Given the description of an element on the screen output the (x, y) to click on. 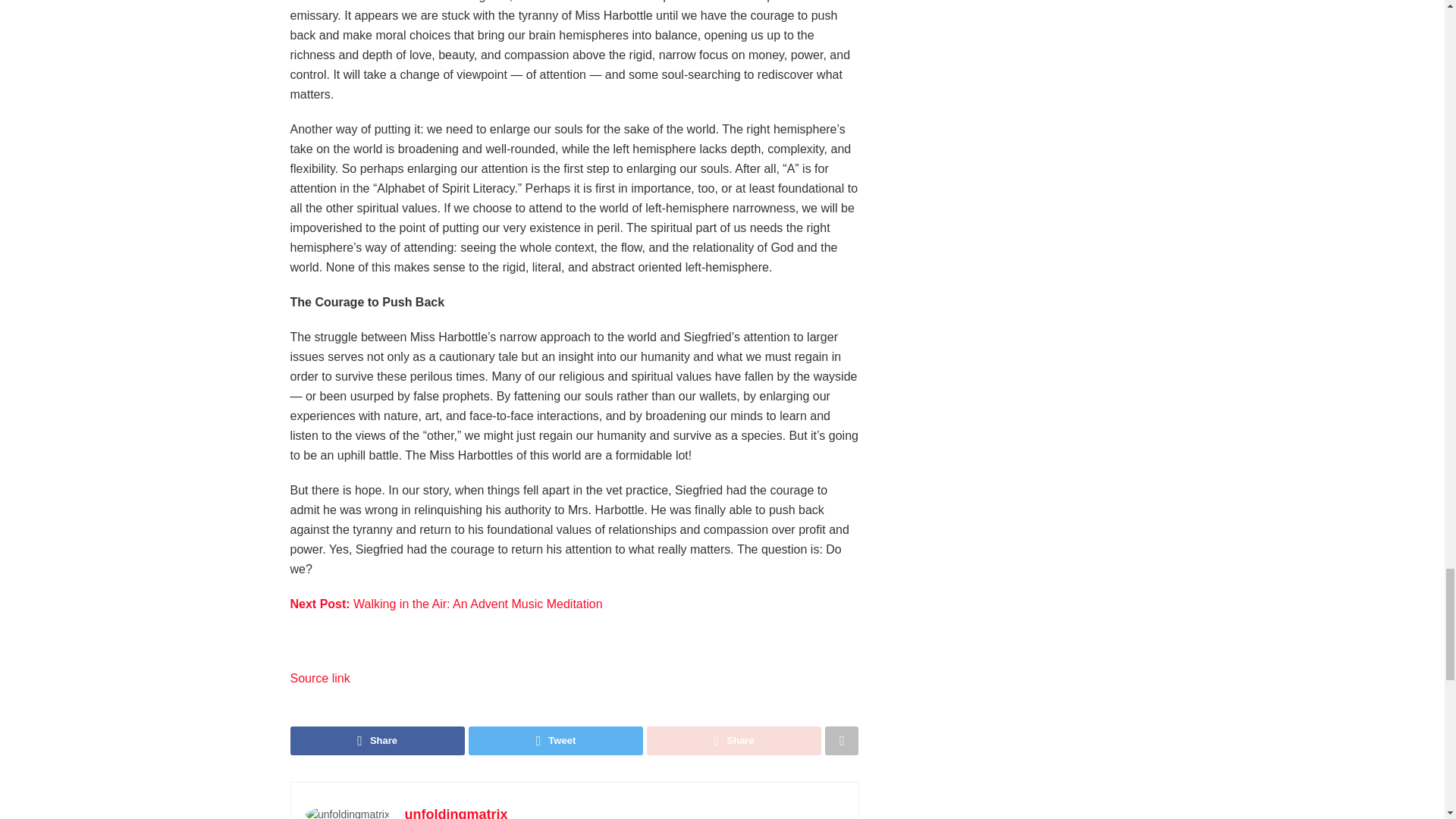
Share (733, 740)
Share (376, 740)
Source link (319, 677)
Tweet (555, 740)
Next Post: Walking in the Air: An Advent Music Meditation (445, 603)
